Given the description of an element on the screen output the (x, y) to click on. 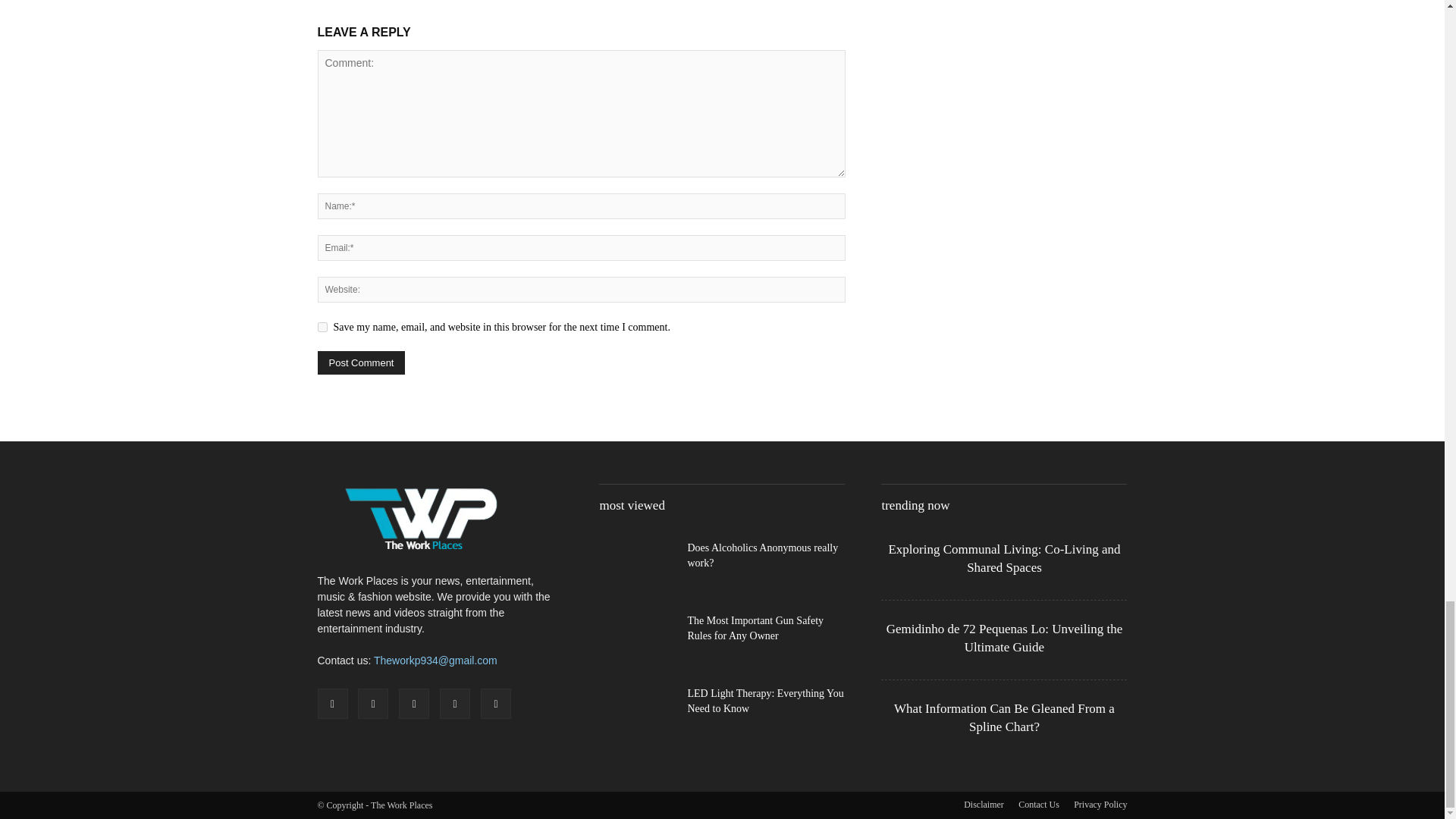
Post Comment (360, 362)
yes (321, 327)
